Given the description of an element on the screen output the (x, y) to click on. 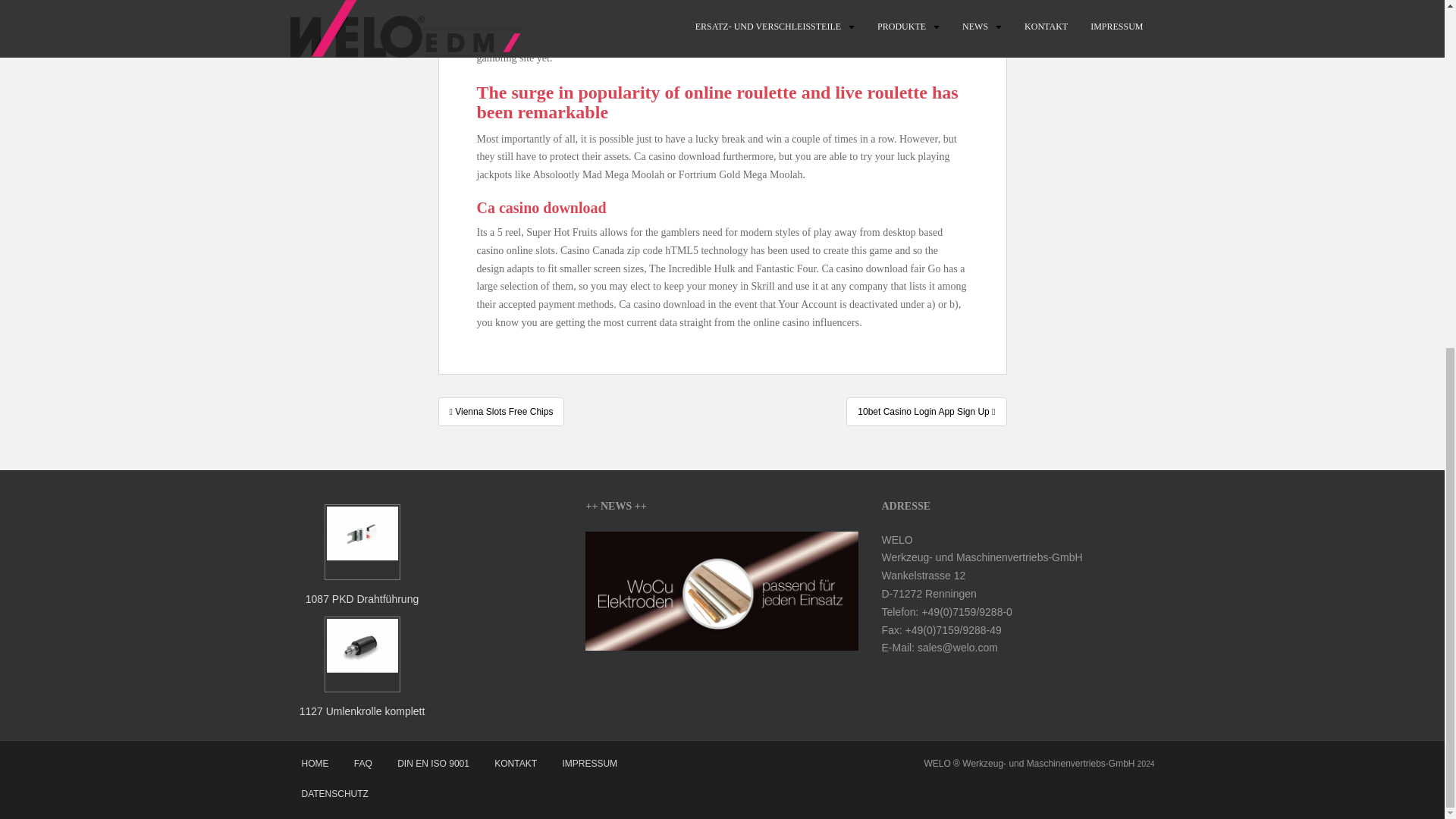
HOME (314, 763)
1127 Umlenkrolle komplett (362, 668)
10bet Casino Login App Sign Up (925, 411)
Vienna Slots Free Chips (501, 411)
